Given the description of an element on the screen output the (x, y) to click on. 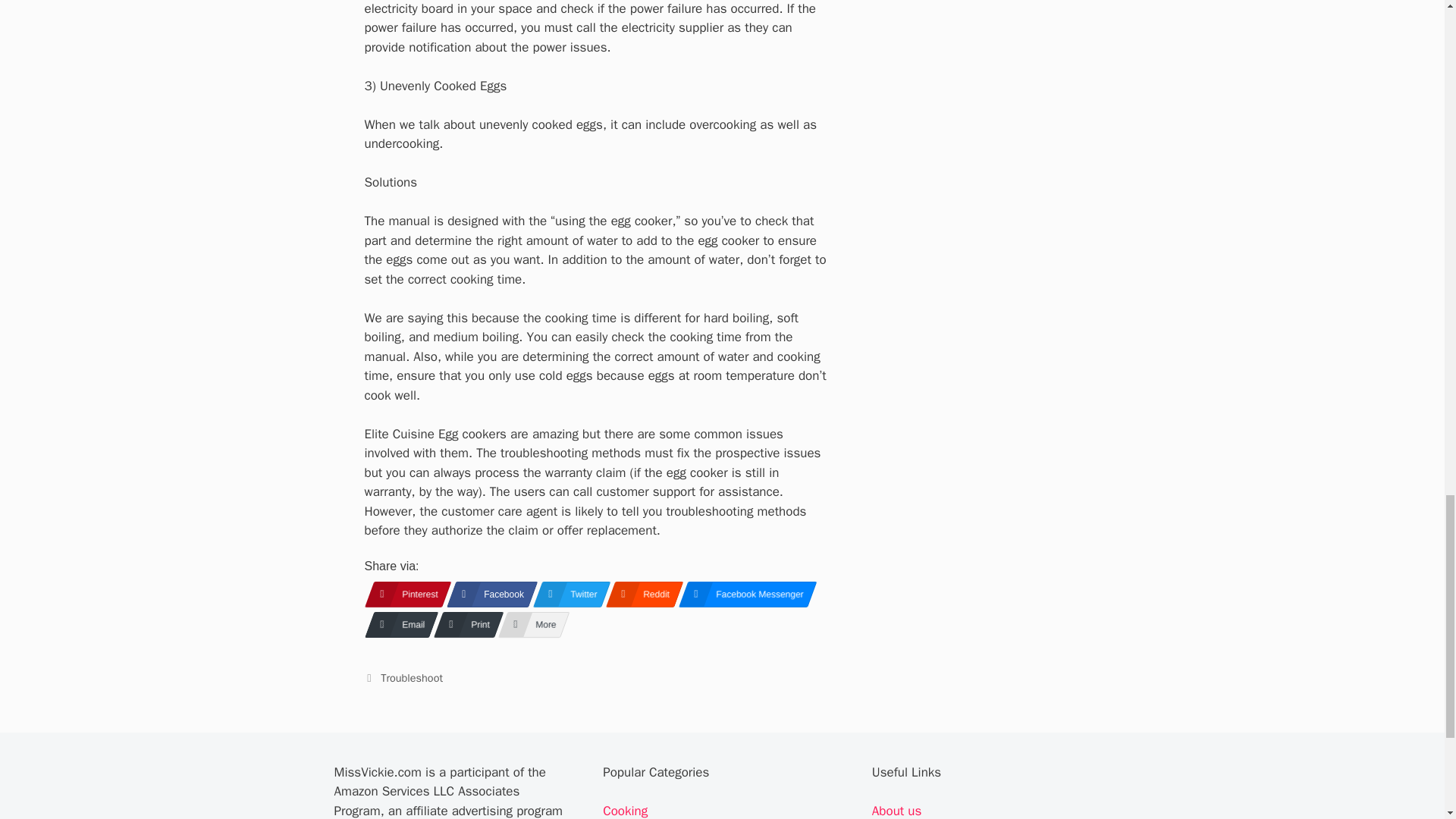
Print (464, 624)
Reddit (639, 594)
Email (396, 624)
More (528, 624)
Pinterest (402, 594)
Twitter (566, 594)
Troubleshoot (411, 677)
Facebook (487, 594)
Facebook Messenger (743, 594)
